Given the description of an element on the screen output the (x, y) to click on. 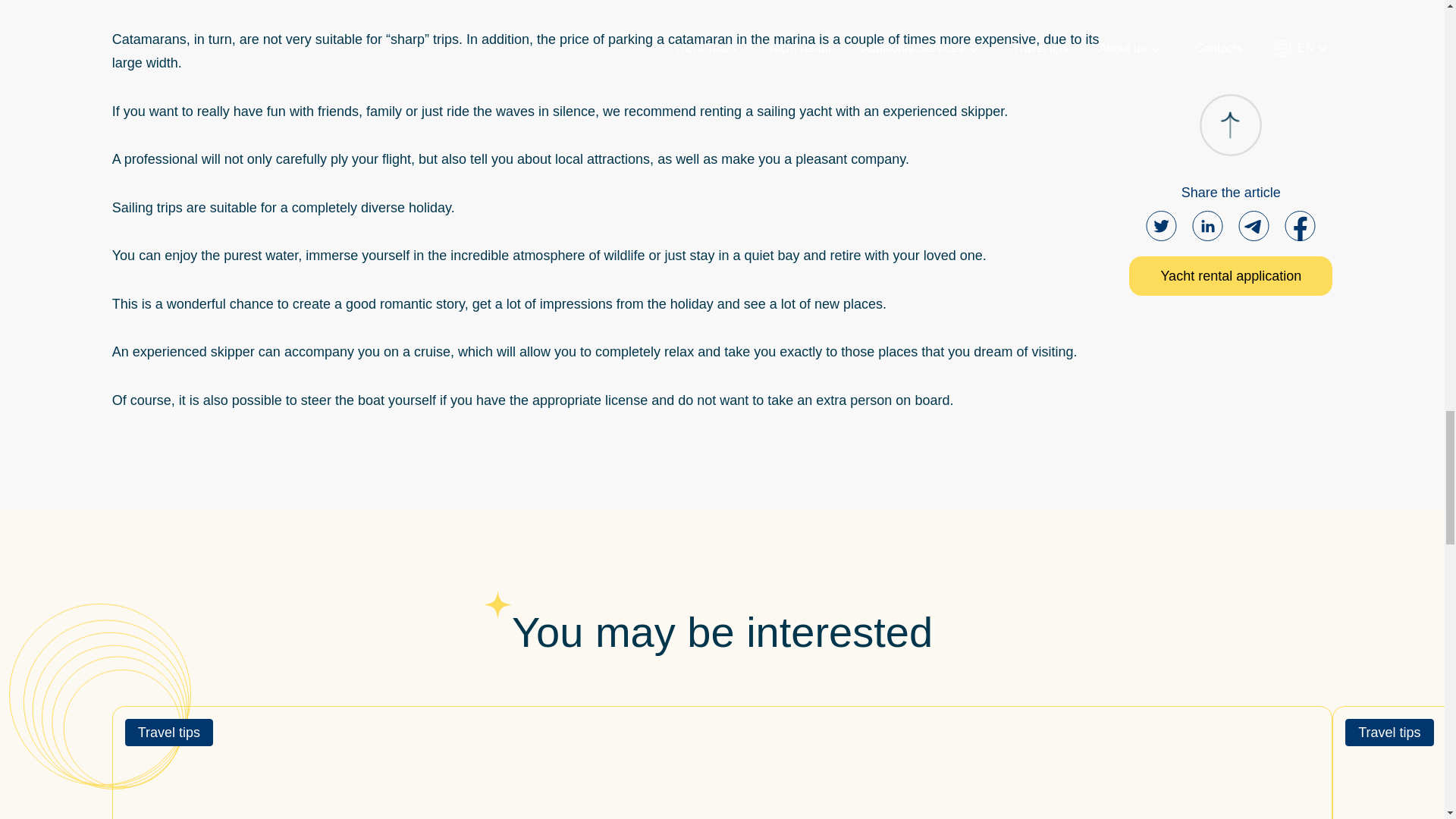
Travel tips (168, 732)
